Given the description of an element on the screen output the (x, y) to click on. 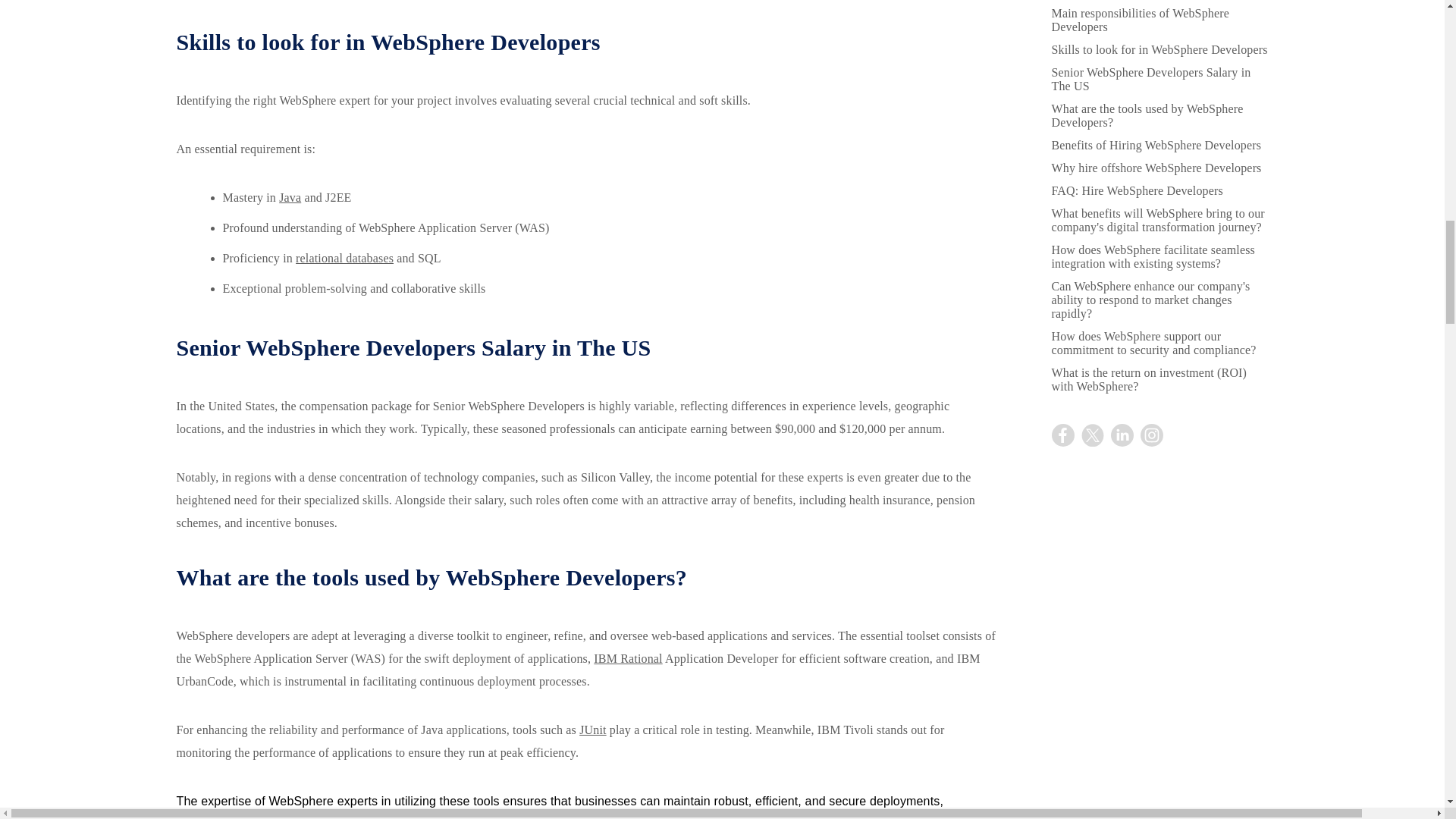
JUnit (592, 729)
relational databases (344, 257)
Java (290, 196)
IBM Rational (628, 658)
